Given the description of an element on the screen output the (x, y) to click on. 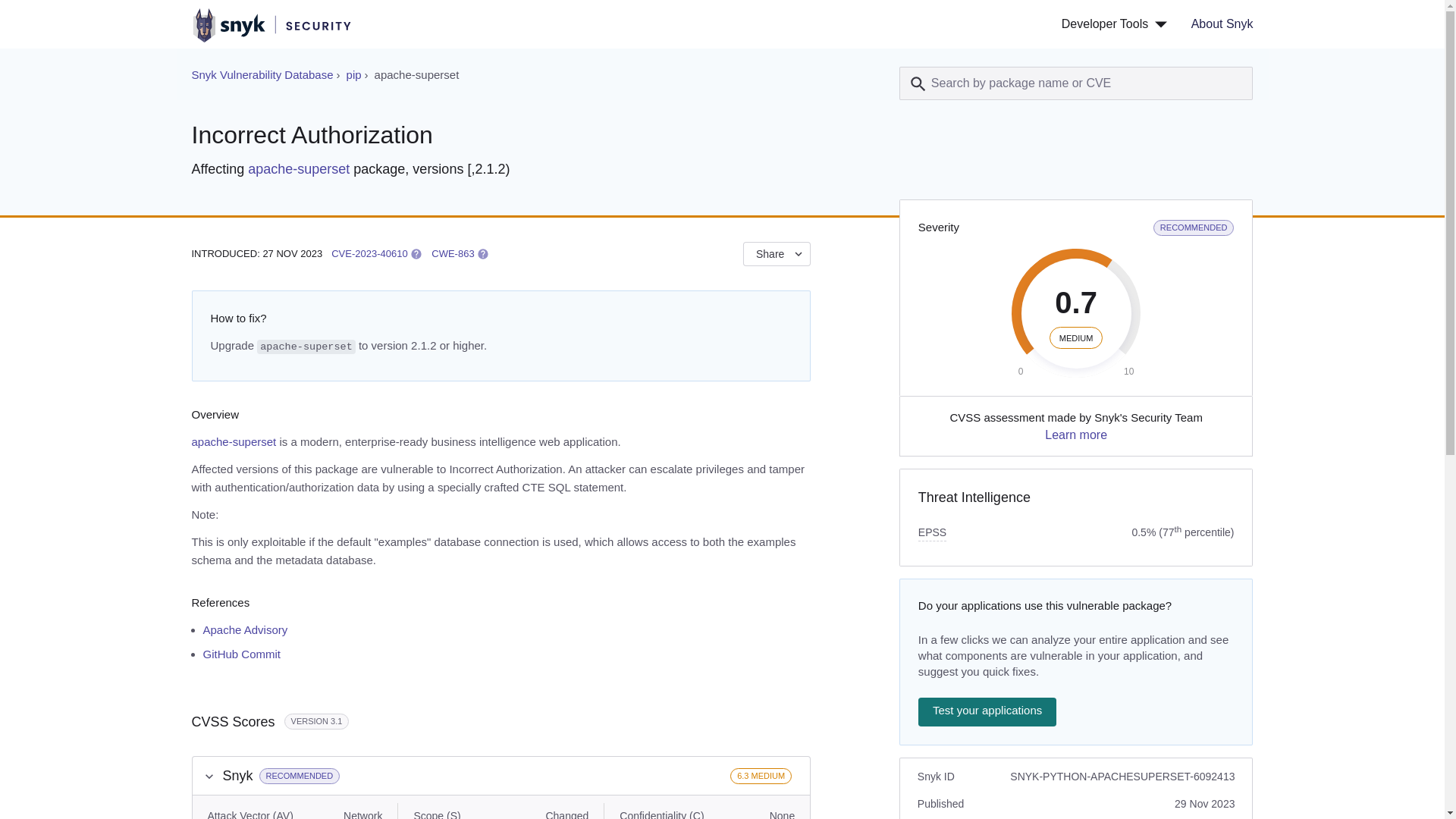
About Snyk (1216, 24)
Test your applications (987, 711)
Expand this section (369, 253)
Snyk Vulnerability Database (209, 776)
pip (261, 74)
GitHub Commit (353, 74)
apache-superset (242, 653)
Apache Advisory (298, 168)
Share (245, 629)
